Given the description of an element on the screen output the (x, y) to click on. 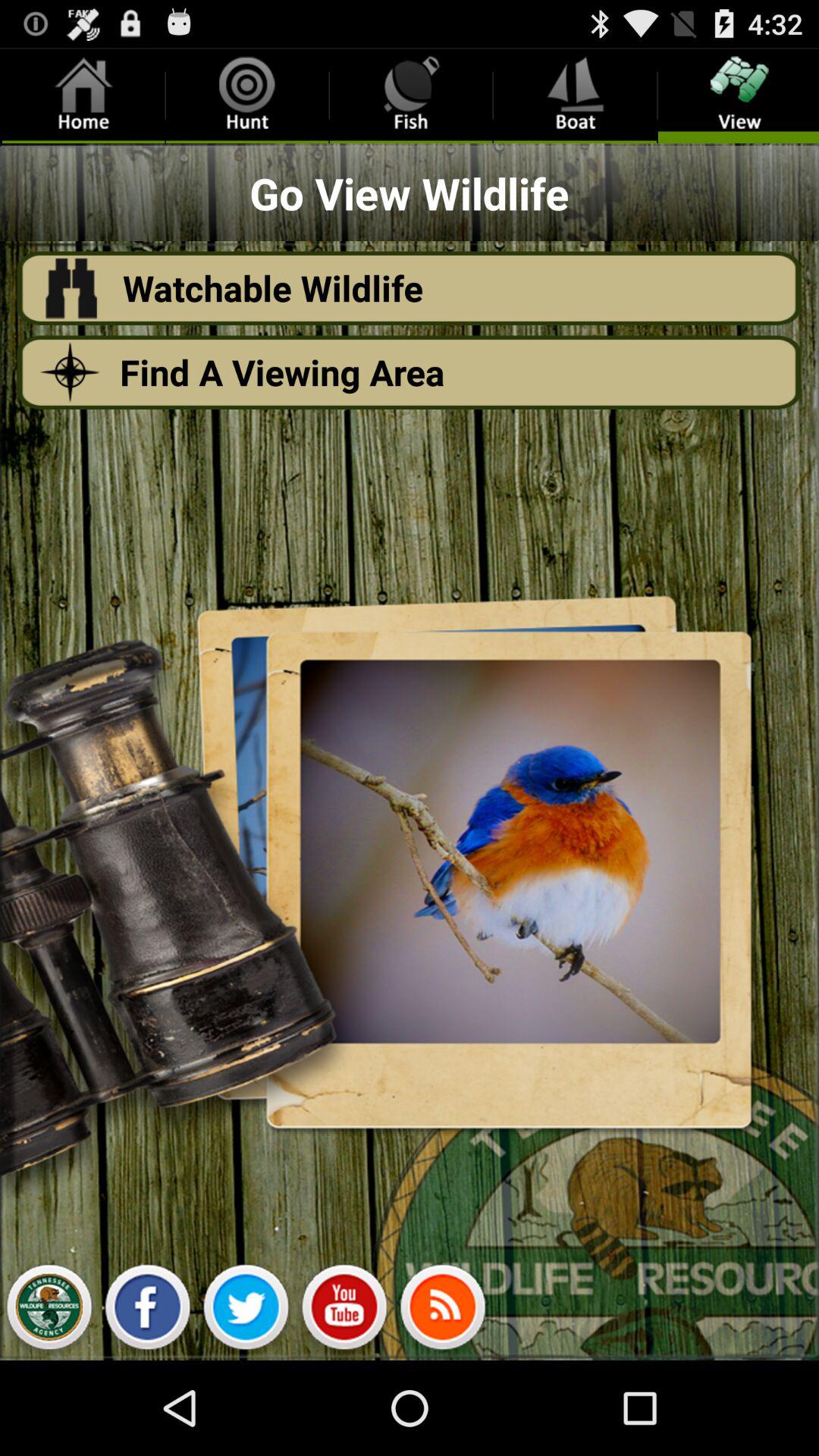
click to wifi option (442, 1311)
